Given the description of an element on the screen output the (x, y) to click on. 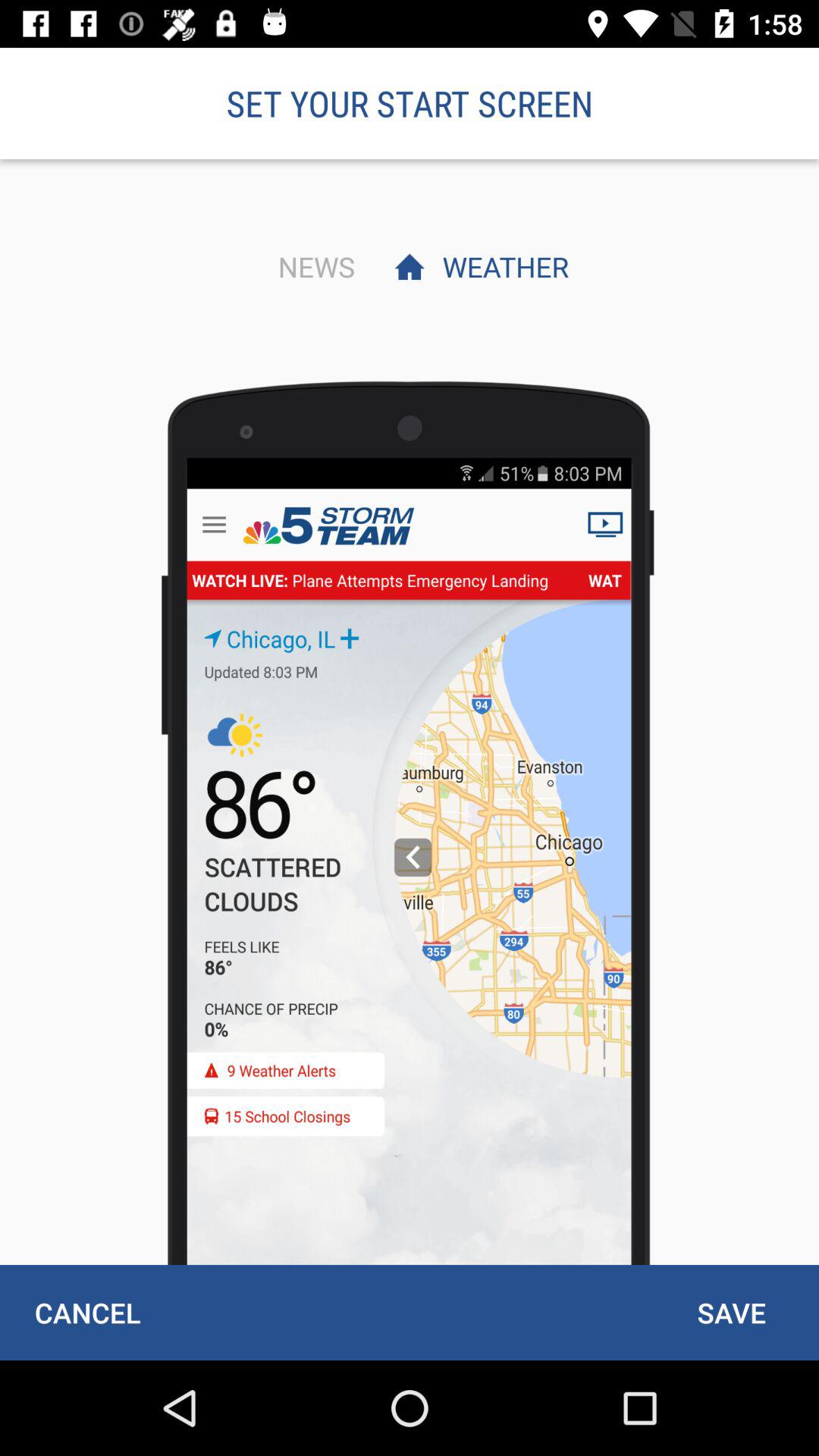
turn on item to the right of news (501, 266)
